Given the description of an element on the screen output the (x, y) to click on. 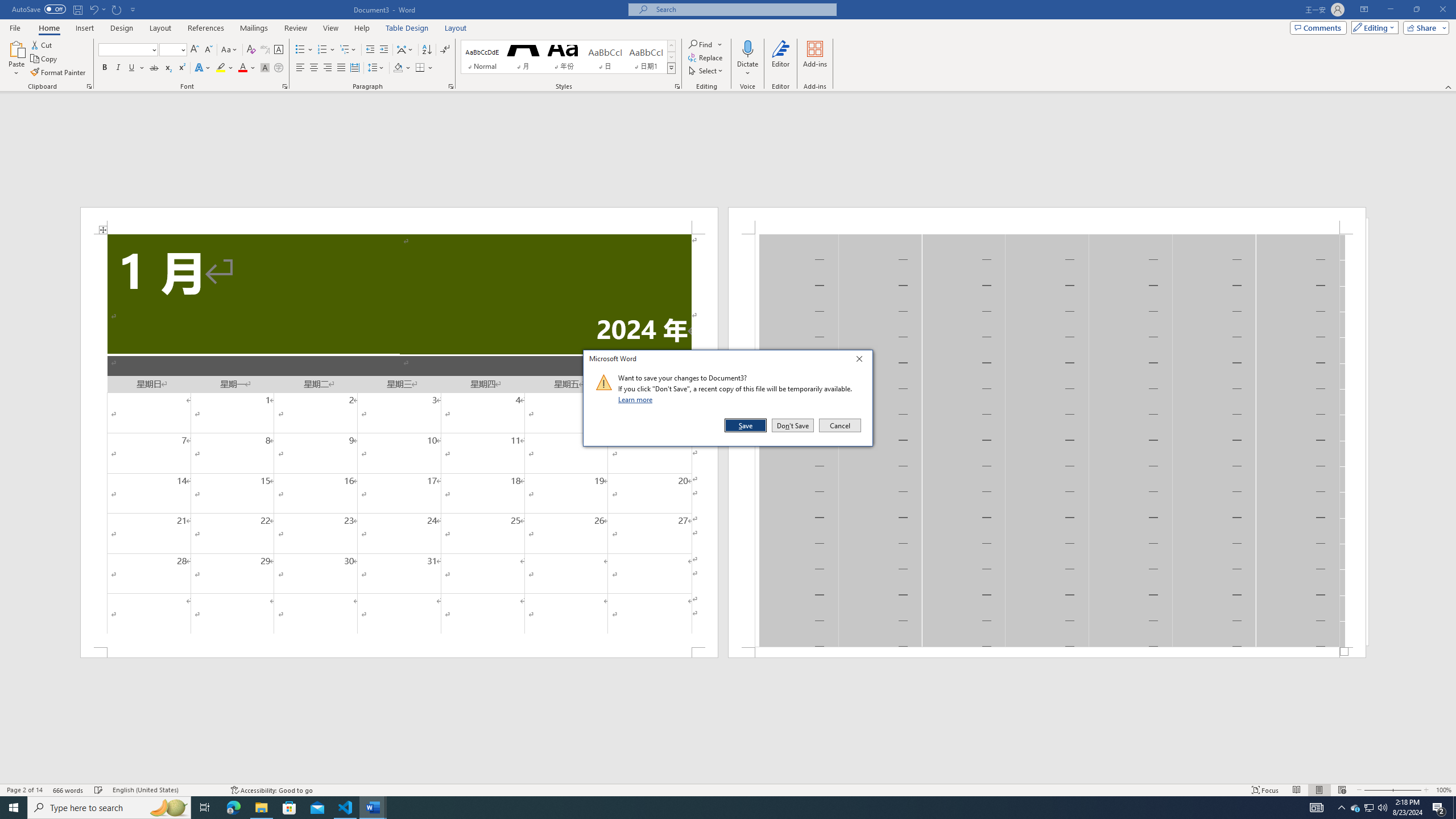
Visual Studio Code - 1 running window (1355, 807)
Subscript (345, 807)
Italic (167, 67)
Table Design (118, 67)
Running applications (407, 28)
